Given the description of an element on the screen output the (x, y) to click on. 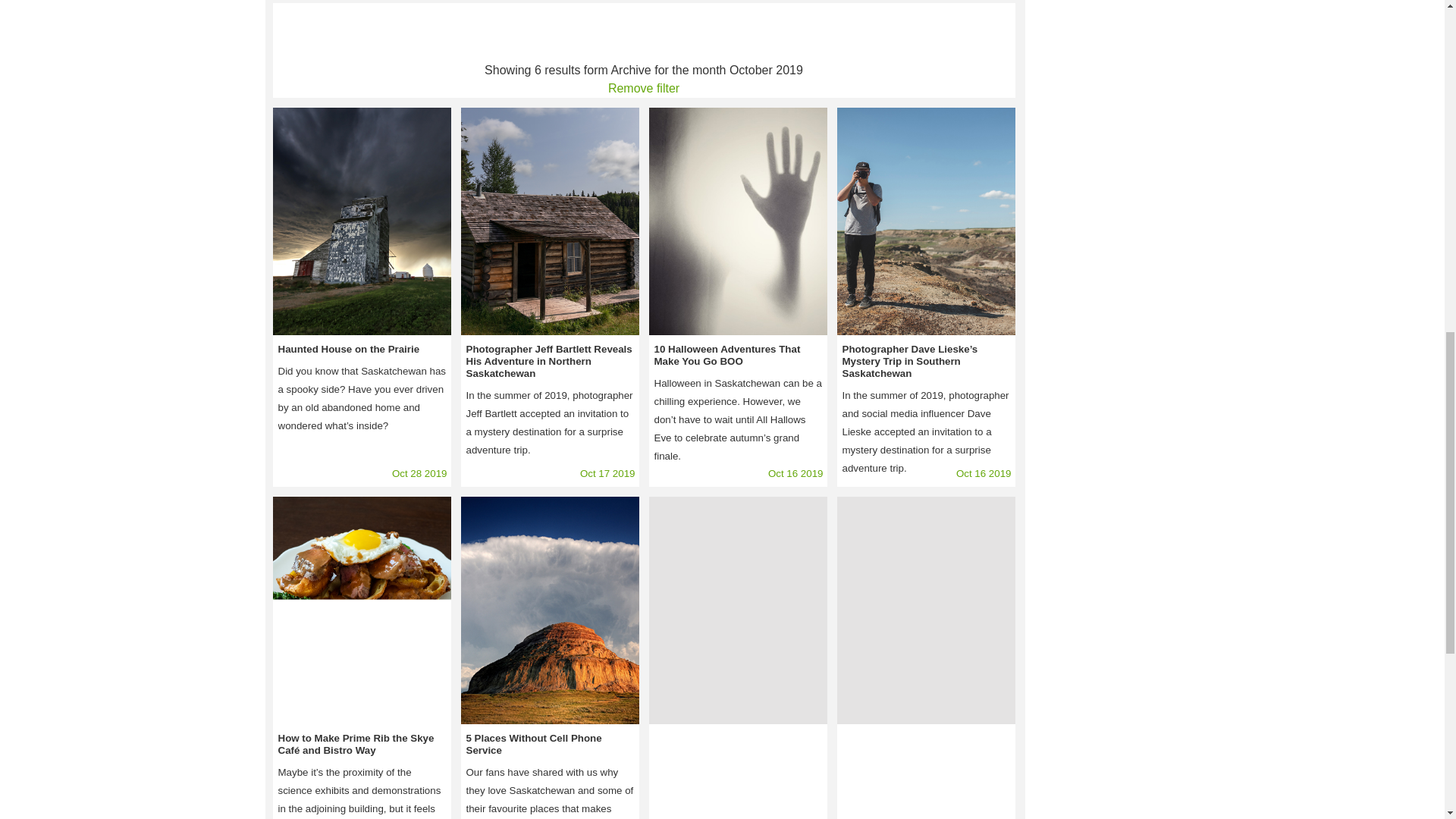
Haunted House on the Prairie (361, 220)
Remove filter (643, 88)
10 Halloween Adventures That Make You Go BOO (737, 220)
5 Places Without Cell Phone Service (549, 609)
